Given the description of an element on the screen output the (x, y) to click on. 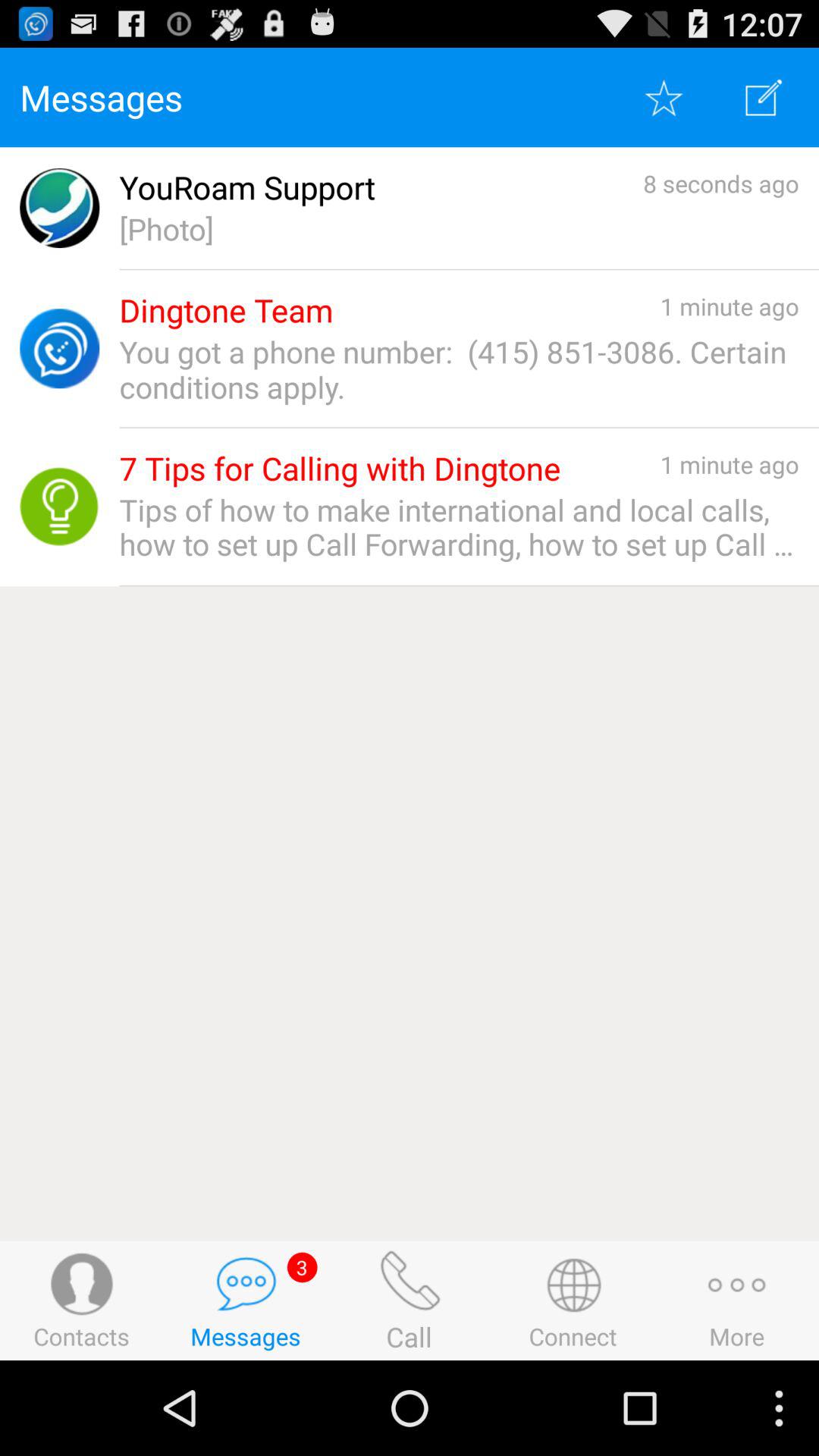
launch item next to the 1 minute ago app (339, 468)
